Given the description of an element on the screen output the (x, y) to click on. 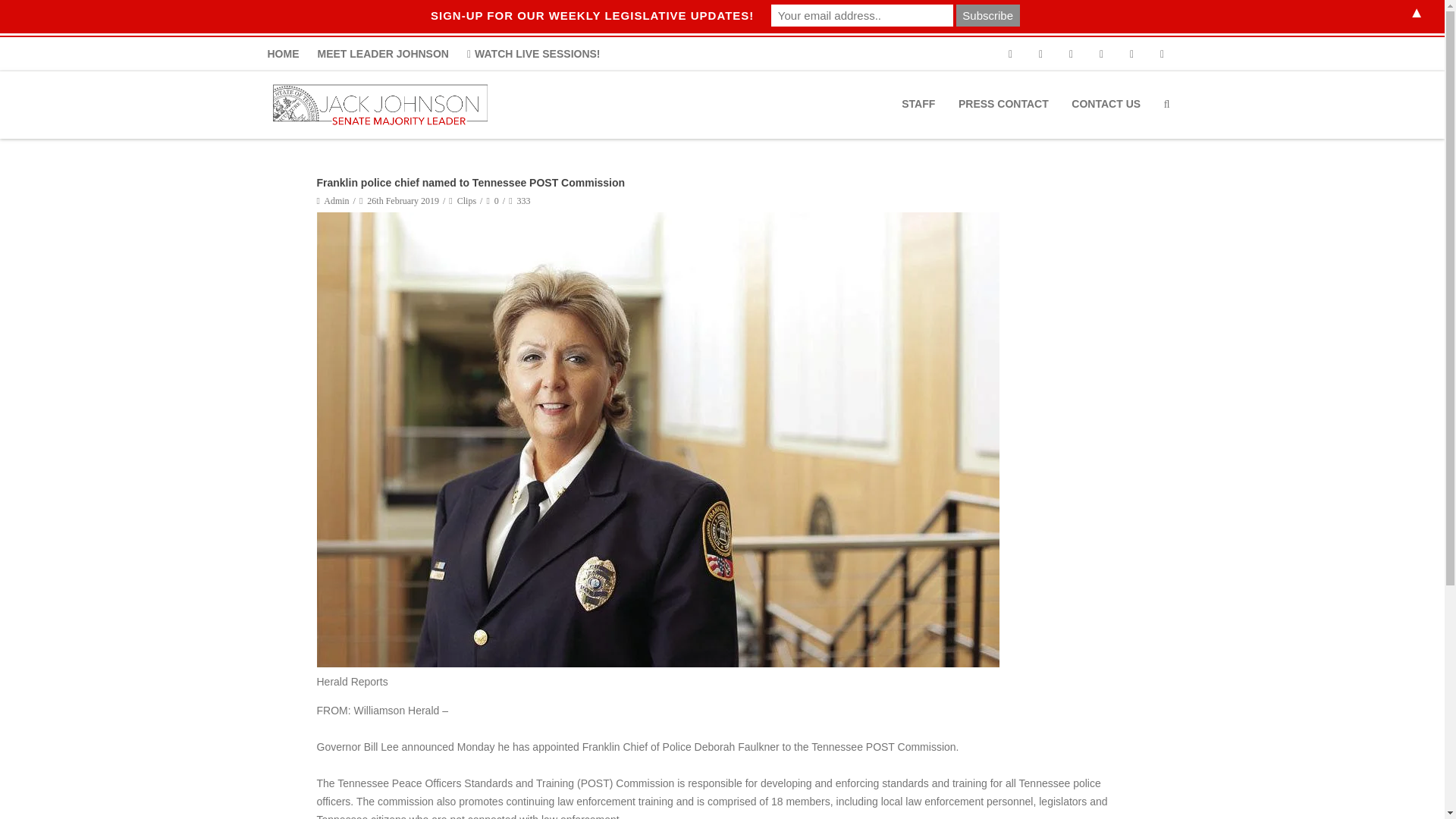
Jack Johnson (382, 104)
Phone (1009, 53)
STAFF (917, 103)
Clips (466, 200)
Subscribe (988, 15)
Facebook (1040, 53)
Williamson Herald (396, 710)
Instagram (1131, 53)
HOME (286, 53)
Twitter (1070, 53)
MEET LEADER JOHNSON (382, 53)
Youtube (1101, 53)
CONTACT US (1105, 103)
Herald Reports (352, 681)
WATCH LIVE SESSIONS! (534, 53)
